Given the description of an element on the screen output the (x, y) to click on. 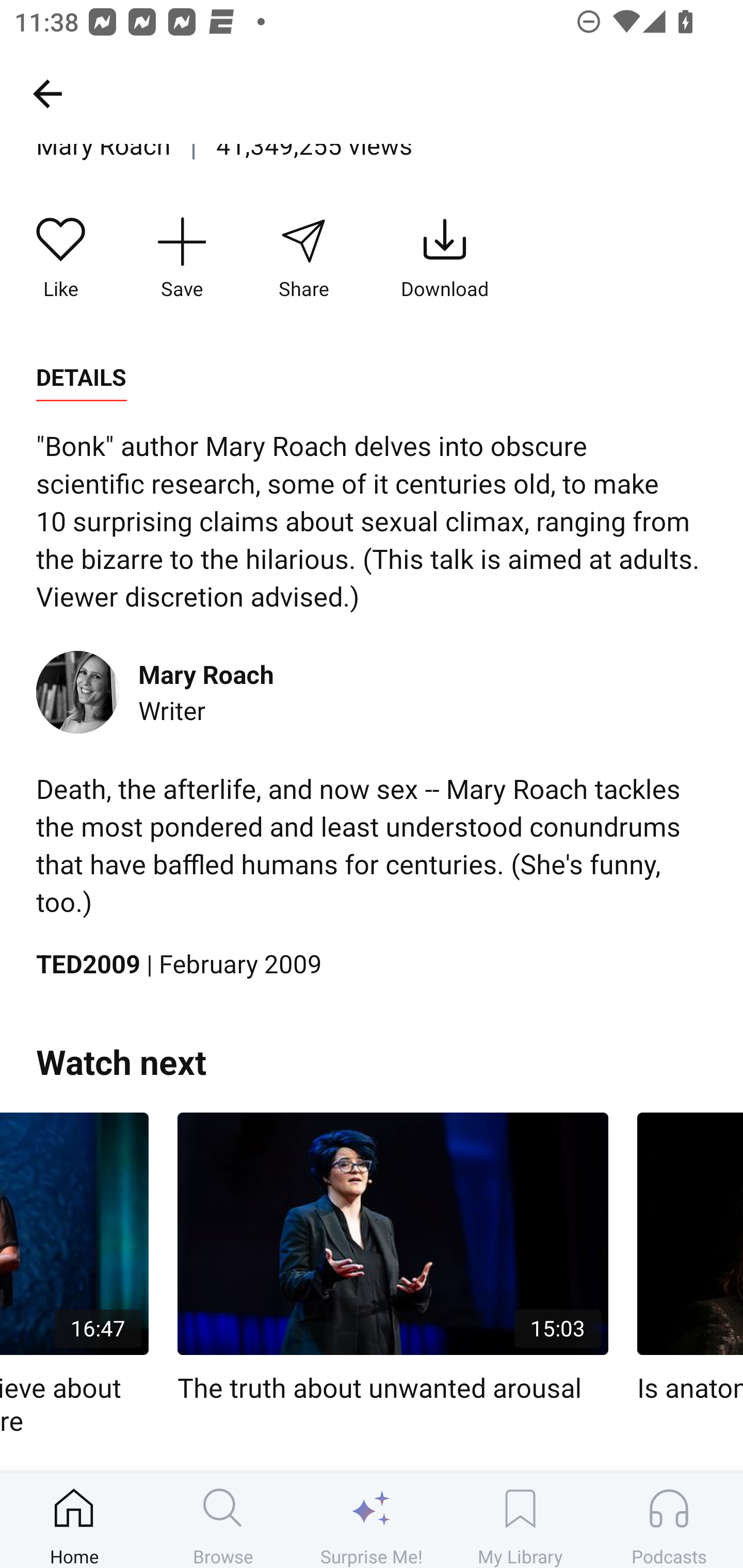
Home, back (47, 92)
Like (60, 258)
Save (181, 258)
Share (302, 258)
Download (444, 258)
DETAILS (80, 377)
15:03 The truth about unwanted arousal (392, 1258)
Home (74, 1520)
Browse (222, 1520)
Surprise Me! (371, 1520)
My Library (519, 1520)
Podcasts (668, 1520)
